Given the description of an element on the screen output the (x, y) to click on. 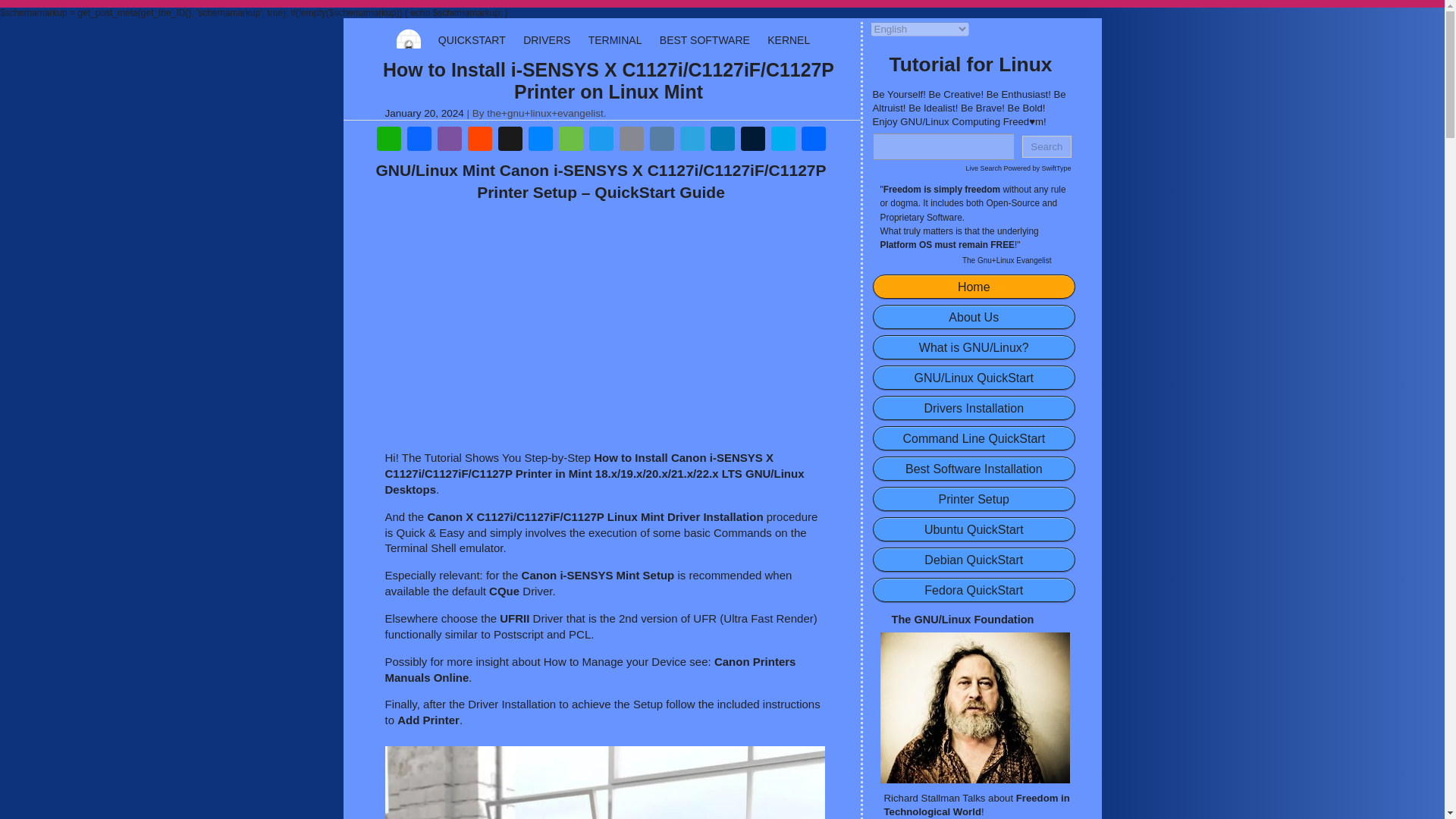
LinkedIn (721, 140)
Canon Printers Online Manuals (590, 669)
WhatsApp (387, 140)
VK (661, 140)
Twitter (600, 140)
TERMINAL (615, 39)
LinkedIn (721, 140)
Messenger (539, 140)
Message (569, 140)
Skype (782, 140)
